Given the description of an element on the screen output the (x, y) to click on. 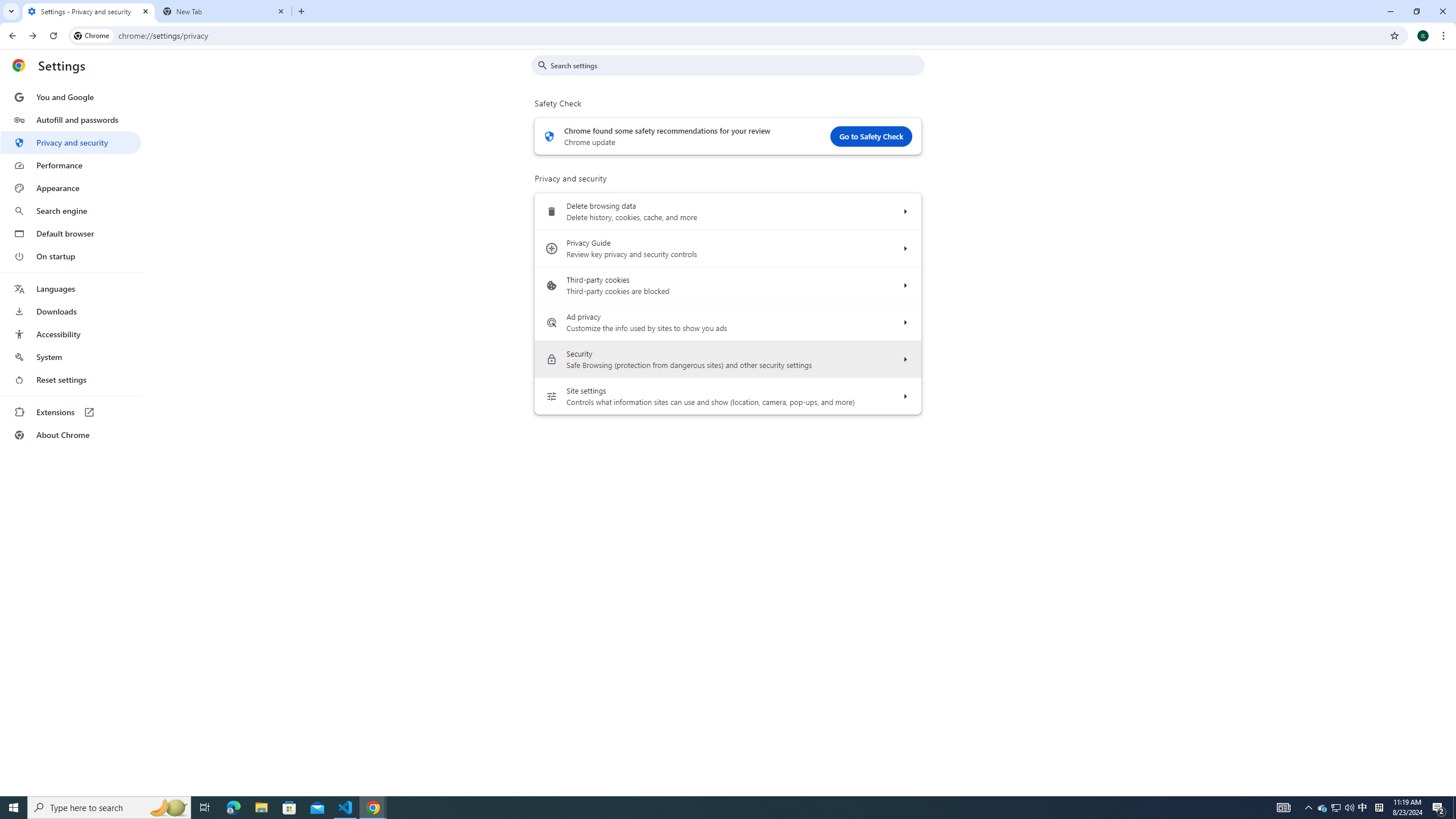
Reset settings (70, 379)
Performance (70, 164)
Go to Safety Check (870, 136)
Ad privacy Customize the info used by sites to show you ads (904, 322)
Privacy Guide Review key privacy and security controls (904, 248)
Languages (70, 288)
Appearance (70, 187)
Settings - Privacy and security (88, 11)
Search engine (70, 210)
Third-party cookies Third-party cookies are blocked (904, 285)
